Given the description of an element on the screen output the (x, y) to click on. 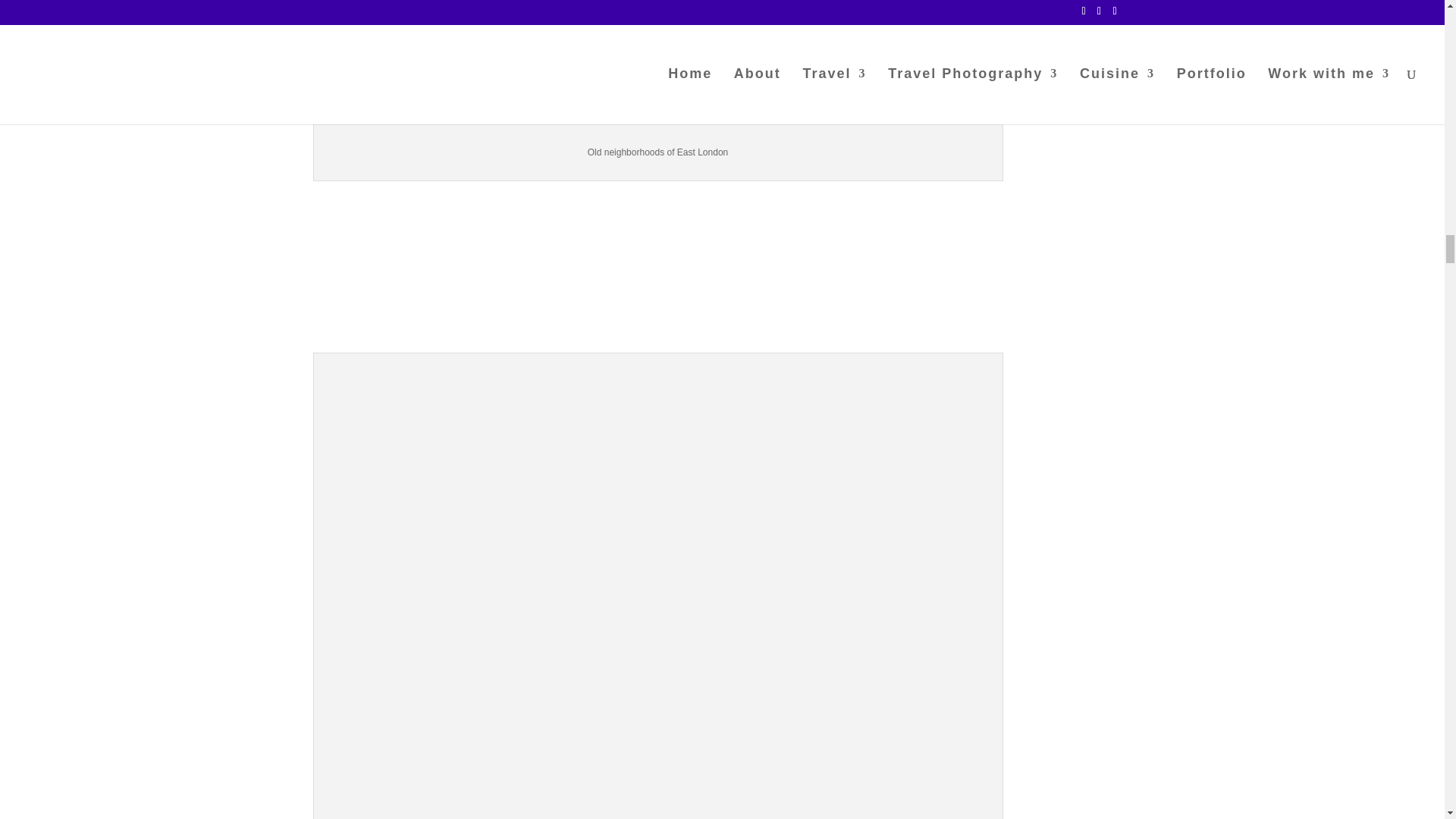
Eating London 14 (657, 67)
